Given the description of an element on the screen output the (x, y) to click on. 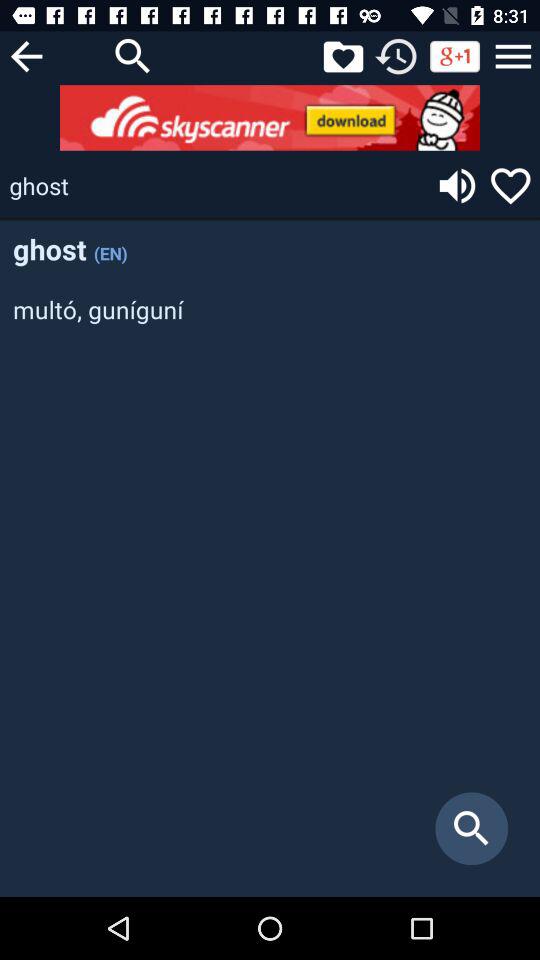
open favorites folder (343, 56)
